Given the description of an element on the screen output the (x, y) to click on. 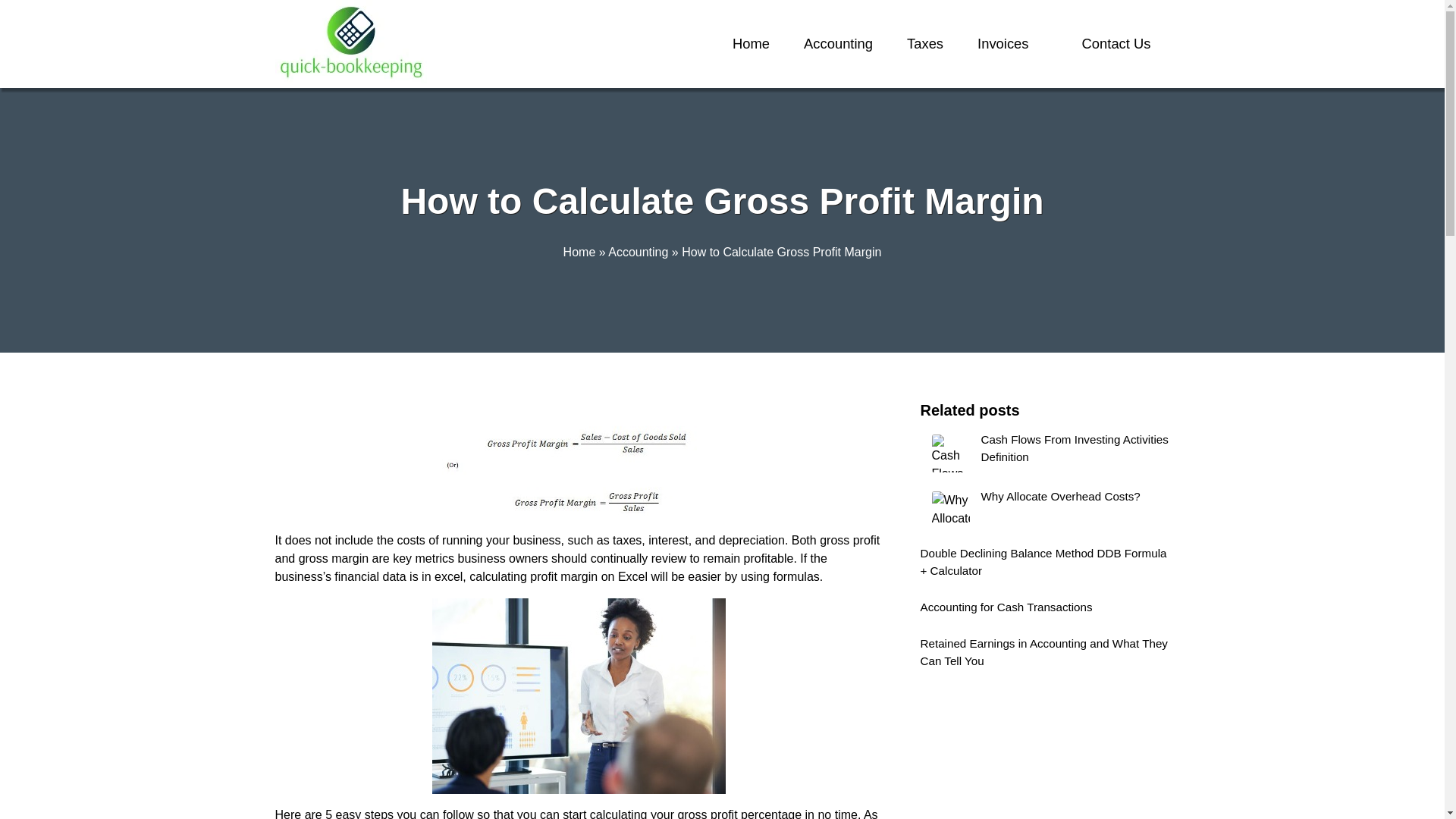
Accounting (837, 43)
Home (579, 251)
Cash Flows From Investing Activities Definition (1045, 453)
Home (751, 43)
Contact Us (1116, 43)
Why Allocate Overhead Costs? (1045, 510)
Accounting (638, 251)
Retained Earnings in Accounting and What They Can Tell You (1045, 655)
Invoices (1001, 43)
Accounting for Cash Transactions (1045, 610)
Taxes (925, 43)
